Given the description of an element on the screen output the (x, y) to click on. 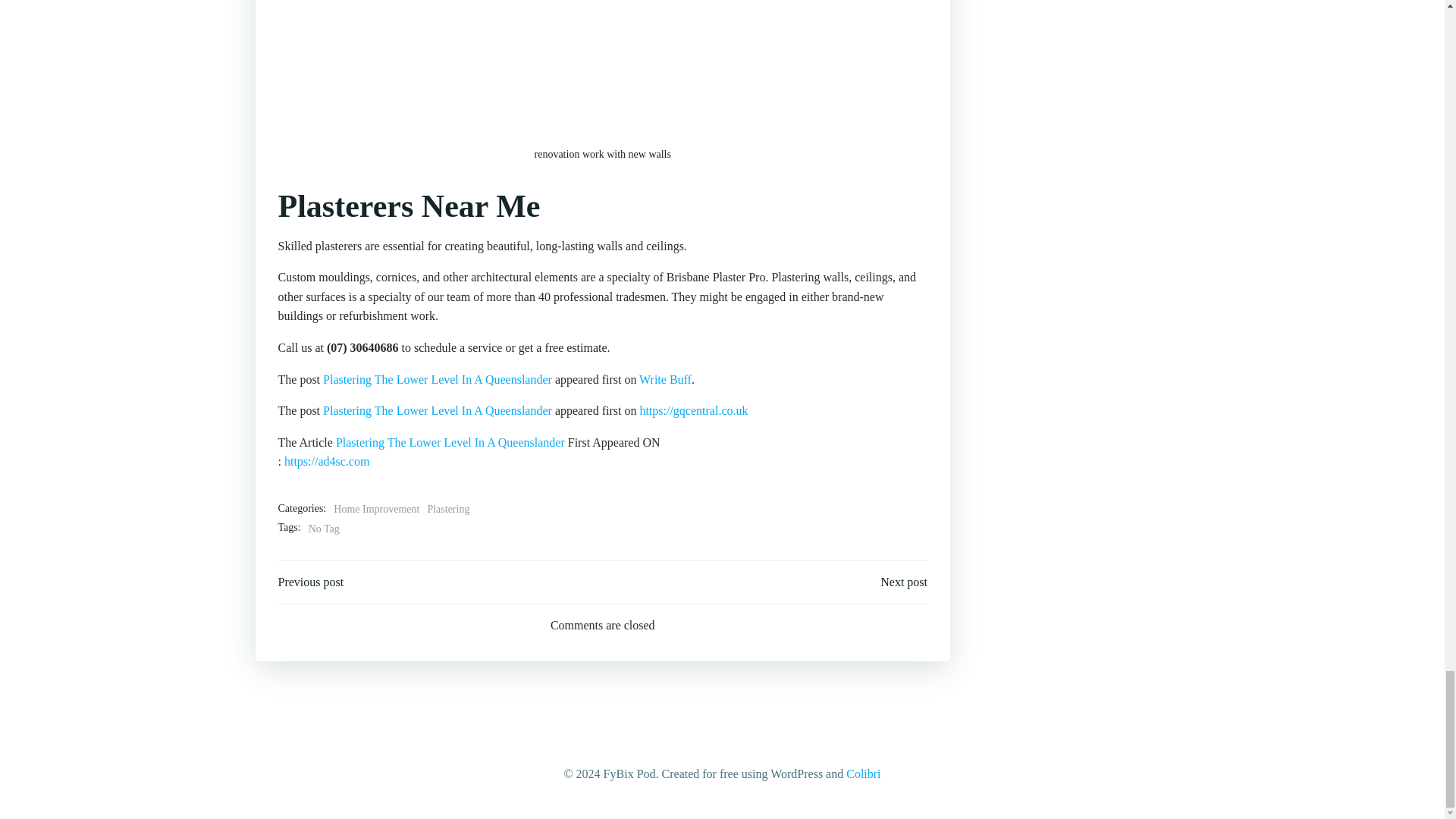
Home Improvement (376, 509)
Plastering The Lower Level In A Queenslander (450, 441)
Plastering The Lower Level In A Queenslander (437, 379)
Plastering The Lower Level In A Queenslander (437, 410)
Write Buff (665, 379)
Next post (903, 582)
Plastering (447, 509)
Previous post (310, 582)
